Given the description of an element on the screen output the (x, y) to click on. 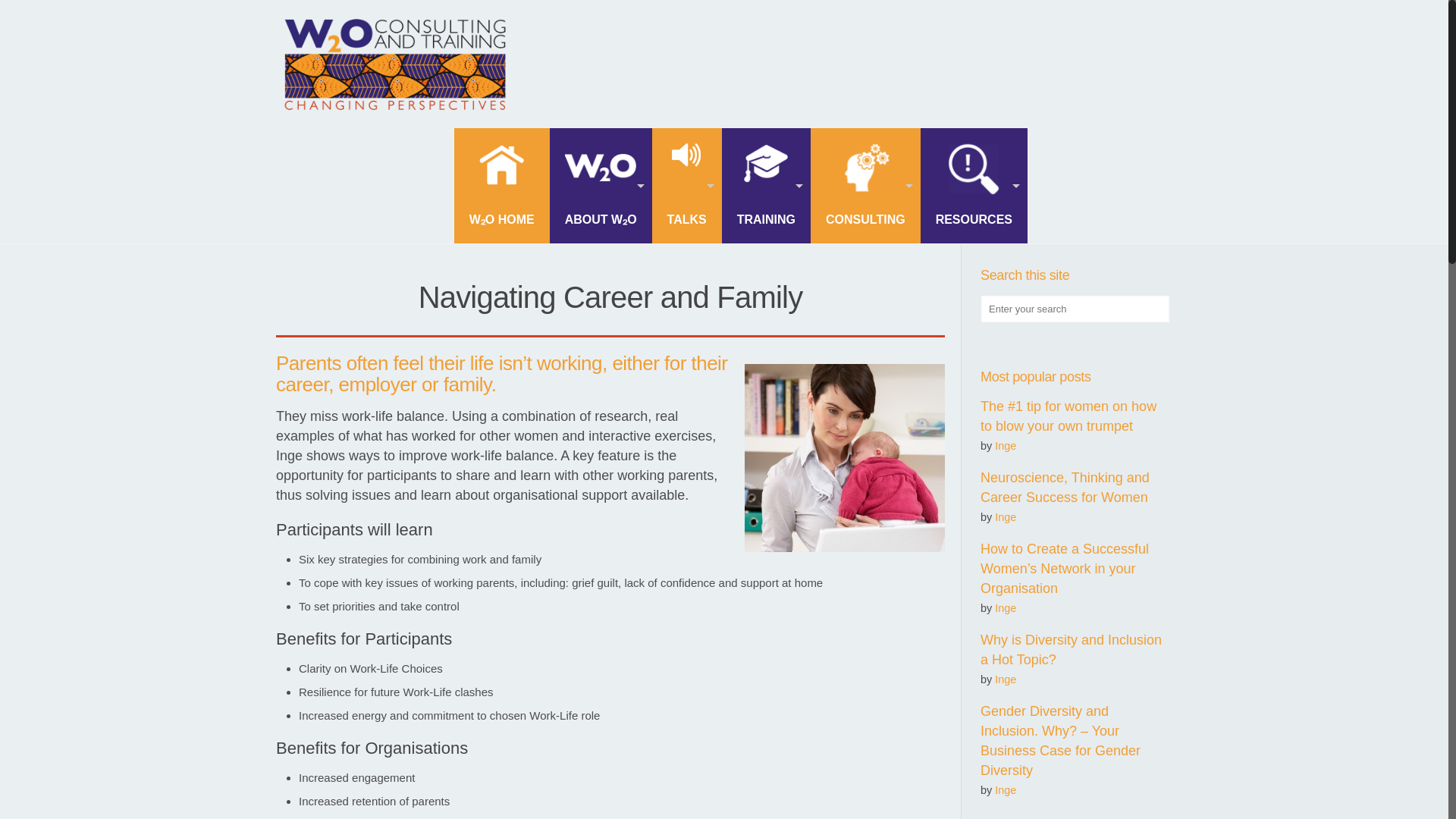
Search (31, 13)
RESOURCES (973, 185)
CONSULTING (865, 185)
Inge (1005, 445)
Inge (1005, 517)
Inge (1005, 607)
Why is Diversity and Inclusion a Hot Topic? (1070, 649)
Neuroscience, Thinking and Career Success for Women (1064, 487)
